Given the description of an element on the screen output the (x, y) to click on. 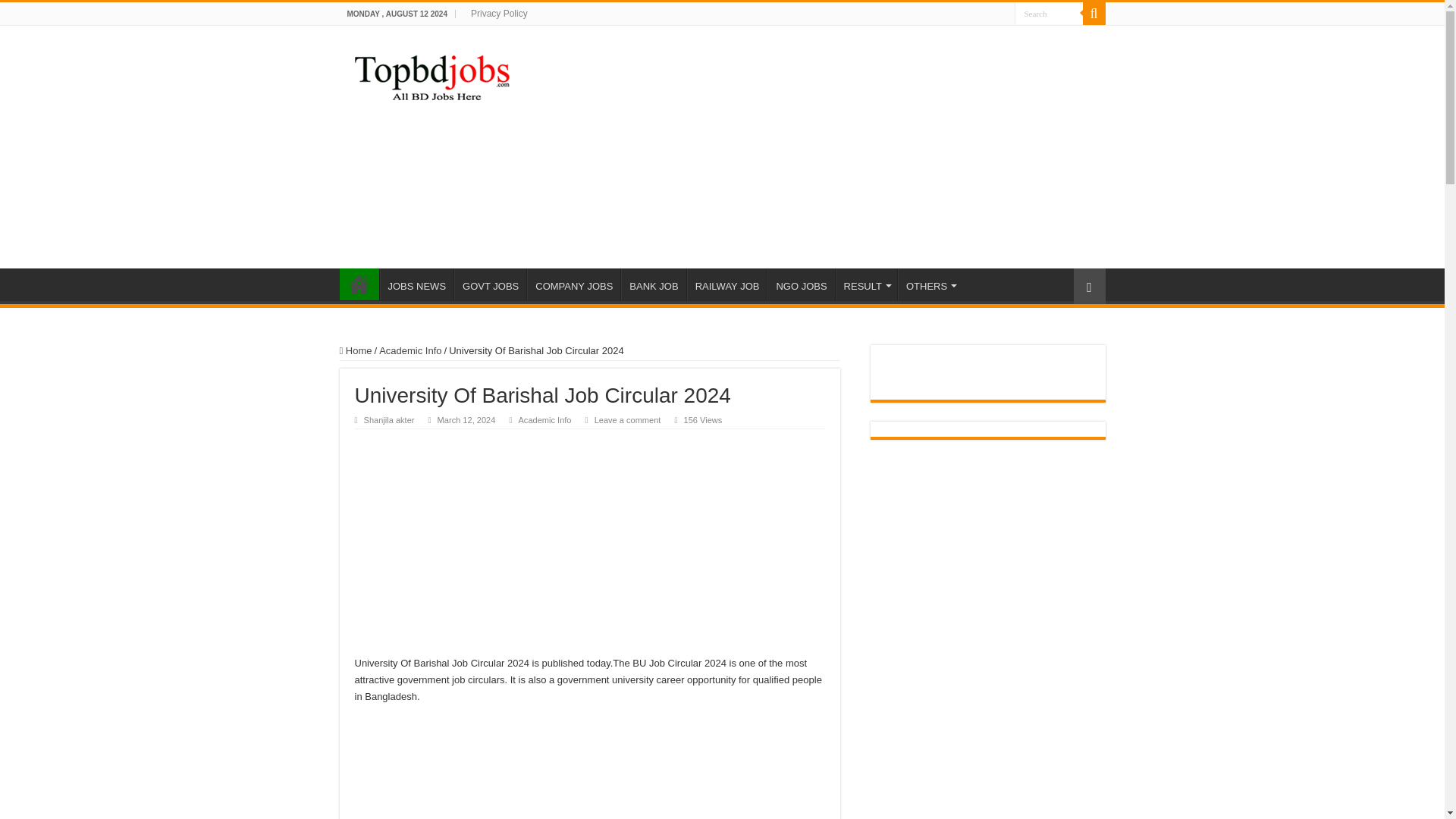
JOBS NEWS (415, 284)
Search (1094, 13)
Search (1048, 13)
Shanjila akter (389, 420)
Advertisement (817, 146)
NGO JOBS (800, 284)
Search (1048, 13)
RESULT (865, 284)
COMPANY JOBS (573, 284)
OTHERS (930, 284)
